Given the description of an element on the screen output the (x, y) to click on. 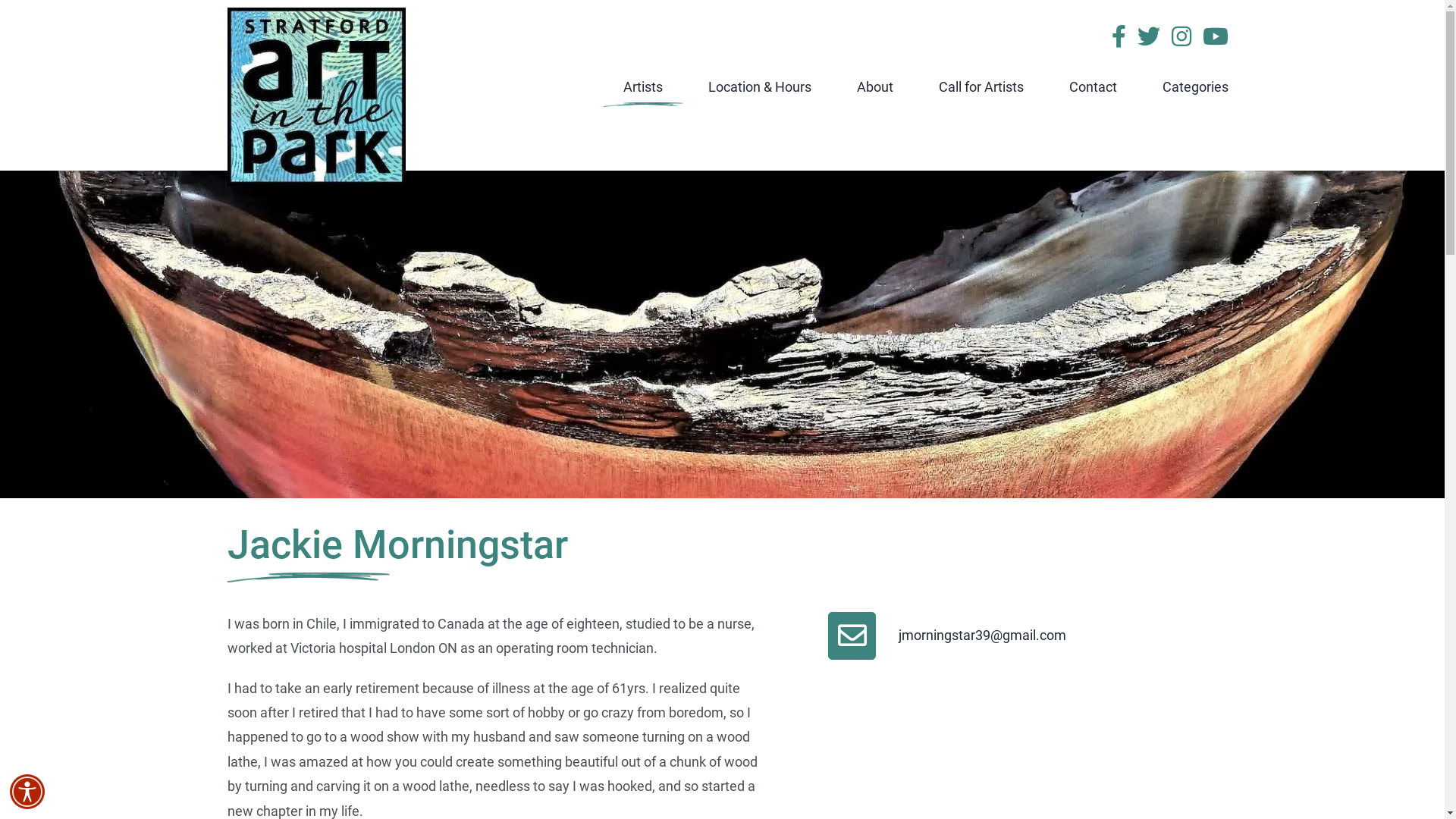
Categories Element type: text (1195, 86)
jmorningstar39@gmail.com Element type: text (947, 635)
Call for Artists Element type: text (980, 86)
About Element type: text (874, 86)
Artists Element type: text (642, 86)
Contact Element type: text (1093, 86)
Location & Hours Element type: text (759, 86)
